Given the description of an element on the screen output the (x, y) to click on. 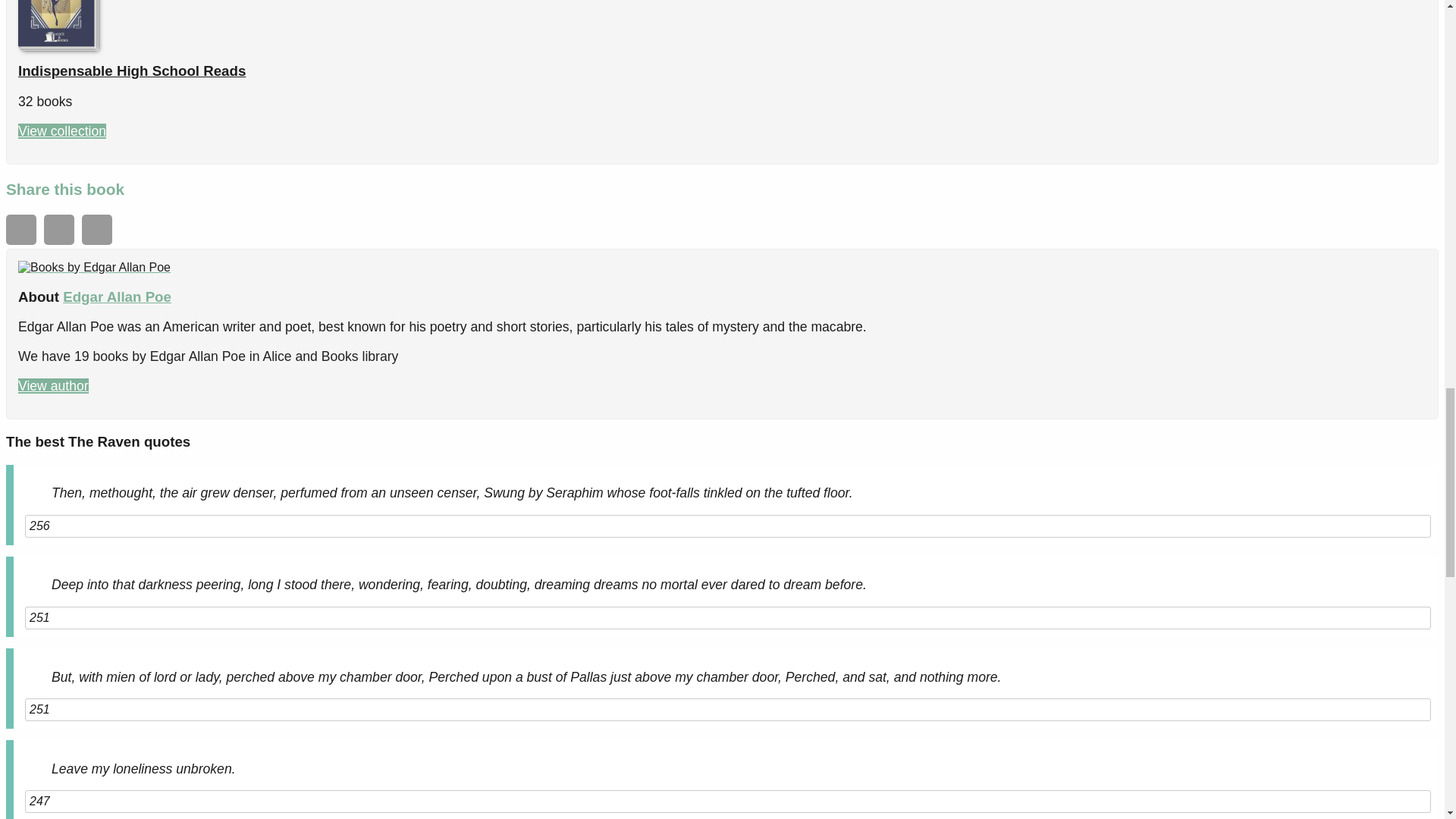
Edgar Allan Poe (93, 267)
Indispensable High School Reads (131, 70)
Share on Whatsapp (20, 229)
Edgar Allan Poe (116, 296)
Facebook (58, 229)
View collection (61, 130)
Share on Twitter (96, 229)
View author (52, 385)
